Given the description of an element on the screen output the (x, y) to click on. 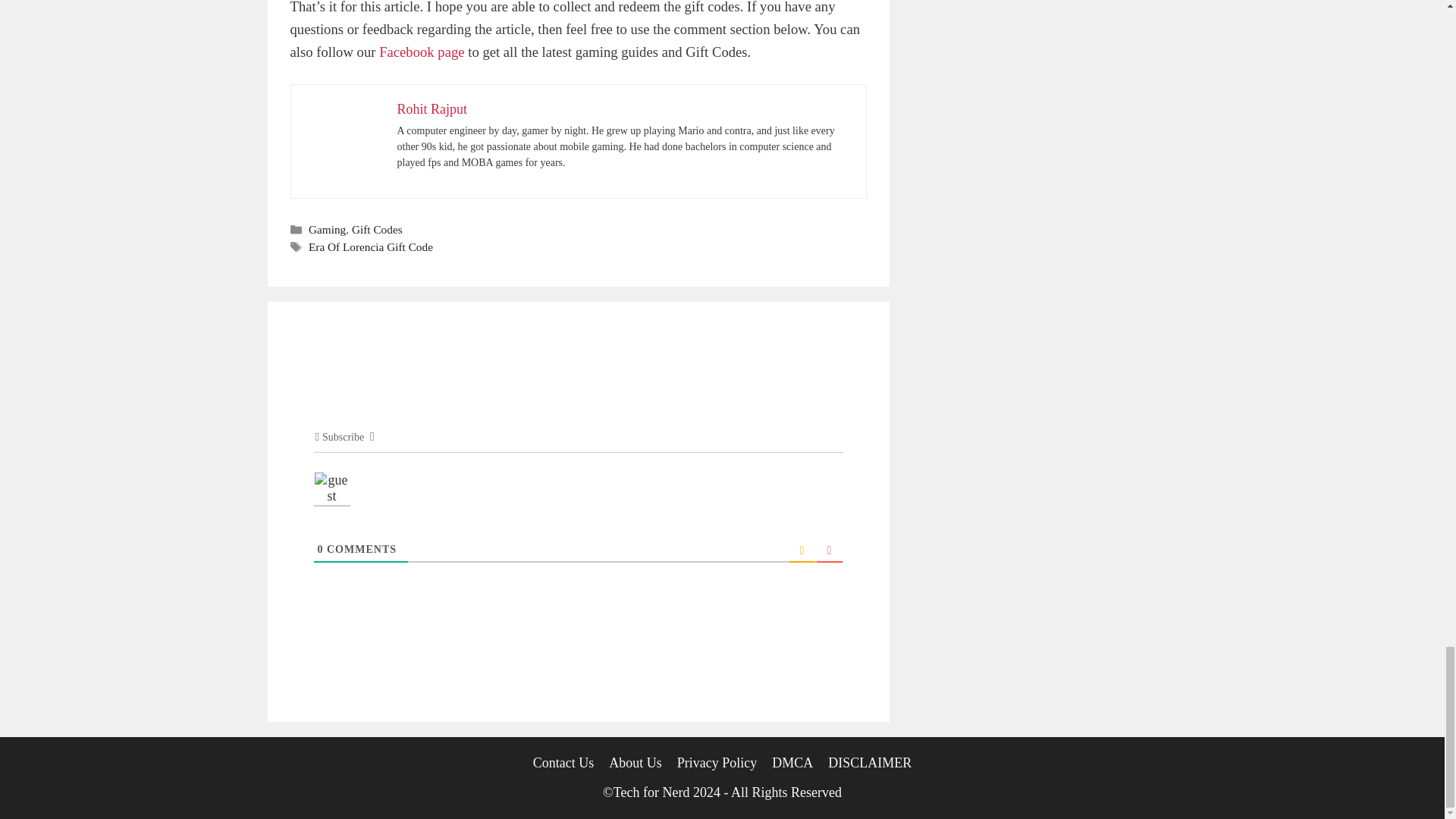
Facebook page (421, 51)
Rohit Rajput (432, 109)
Gaming (327, 228)
Era Of Lorencia Gift Code (370, 246)
Gift Codes (377, 228)
